Given the description of an element on the screen output the (x, y) to click on. 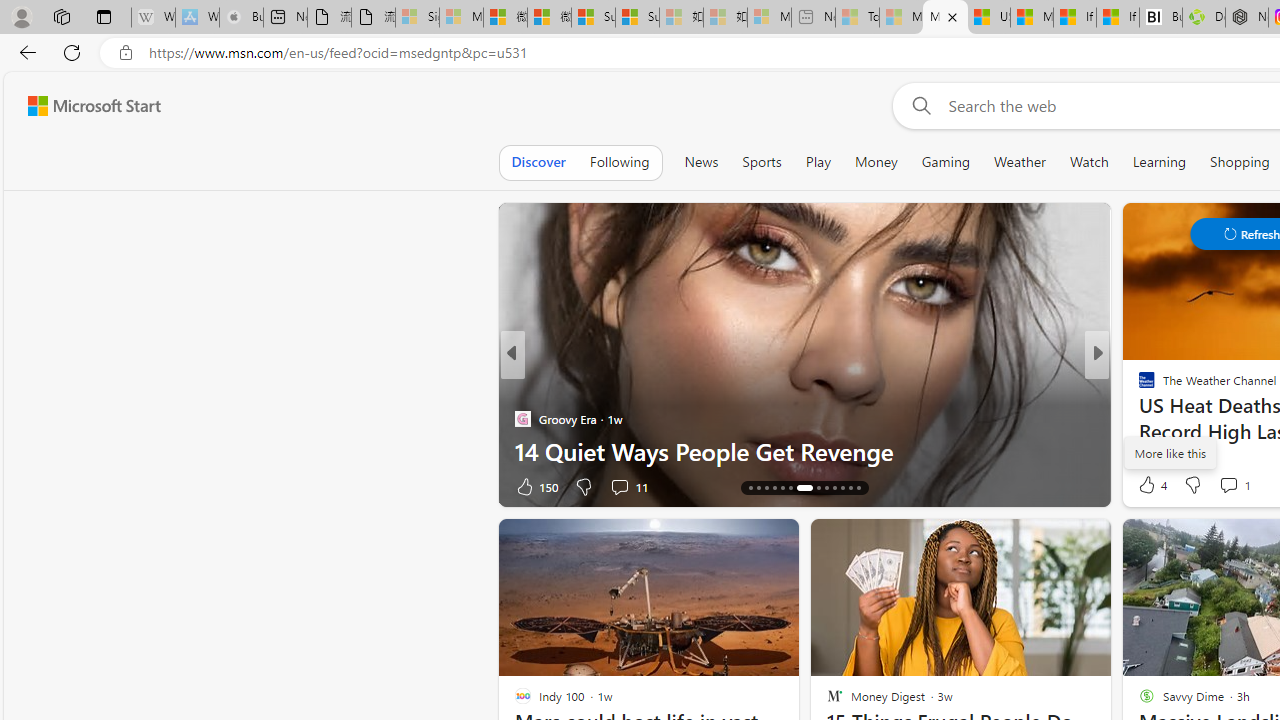
US Heat Deaths Soared To Record High Last Year (988, 17)
AutomationID: tab-23 (833, 487)
View comments 13 Comment (11, 485)
AutomationID: tab-15 (757, 487)
Personal Profile (21, 16)
Microsoft Start (94, 105)
Marine life - MSN - Sleeping (900, 17)
Skip to footer (82, 105)
News (701, 162)
AutomationID: tab-22 (825, 487)
38 Like (1149, 486)
Top Stories - MSN - Sleeping (857, 17)
